Given the description of an element on the screen output the (x, y) to click on. 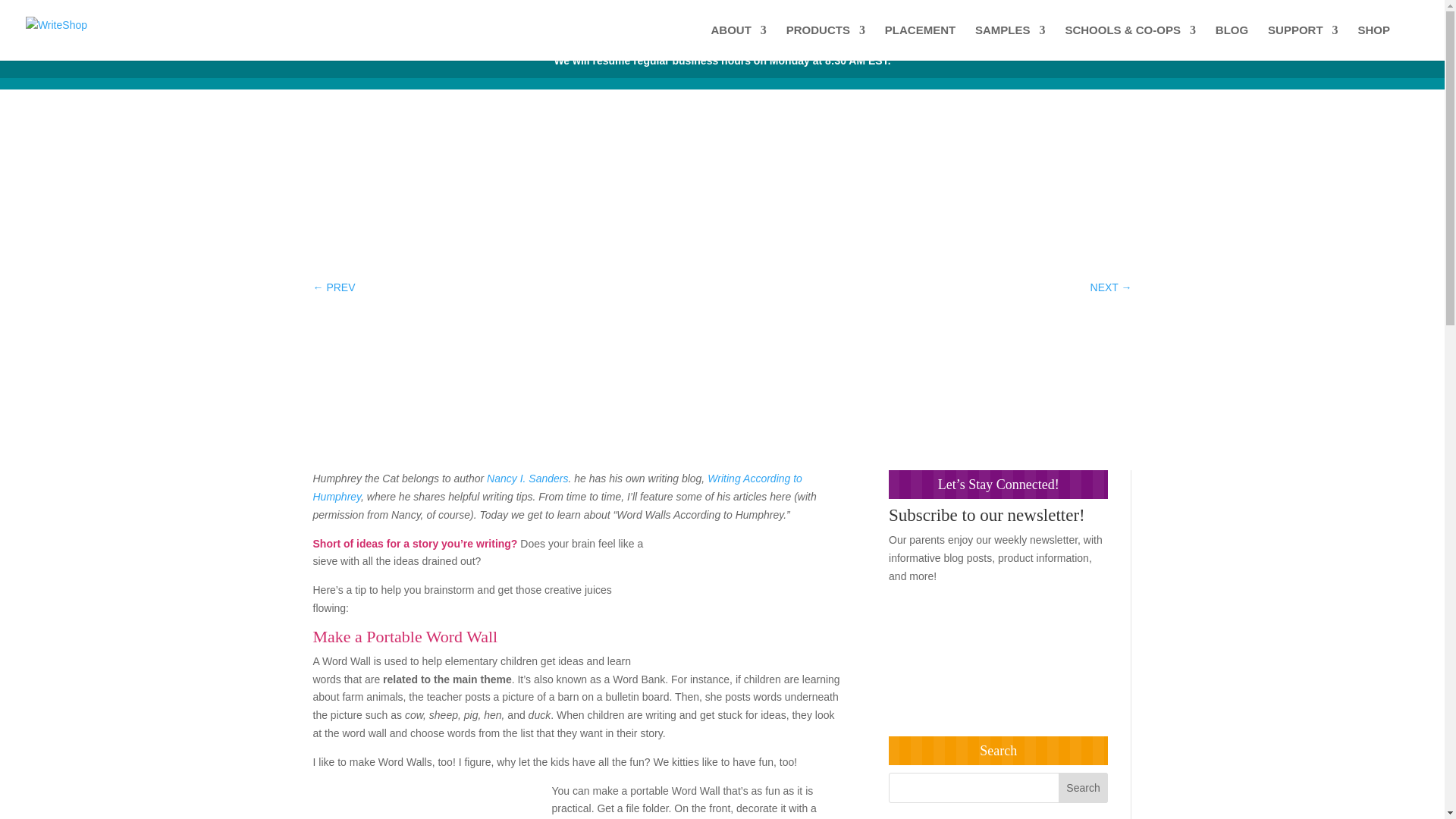
PLACEMENT (920, 42)
Brainstorming (936, 211)
SUPPORT (1303, 42)
Word Banks (1003, 211)
Posts by Kim Kautzer (800, 211)
Humphrey and his Portable Word Walls (426, 800)
PRODUCTS (825, 42)
Search (1083, 788)
Humphrey the Cat (752, 595)
Kim Kautzer (800, 211)
SHOP (1373, 42)
SAMPLES (1010, 42)
ABOUT (739, 42)
BLOG (1231, 42)
